Given the description of an element on the screen output the (x, y) to click on. 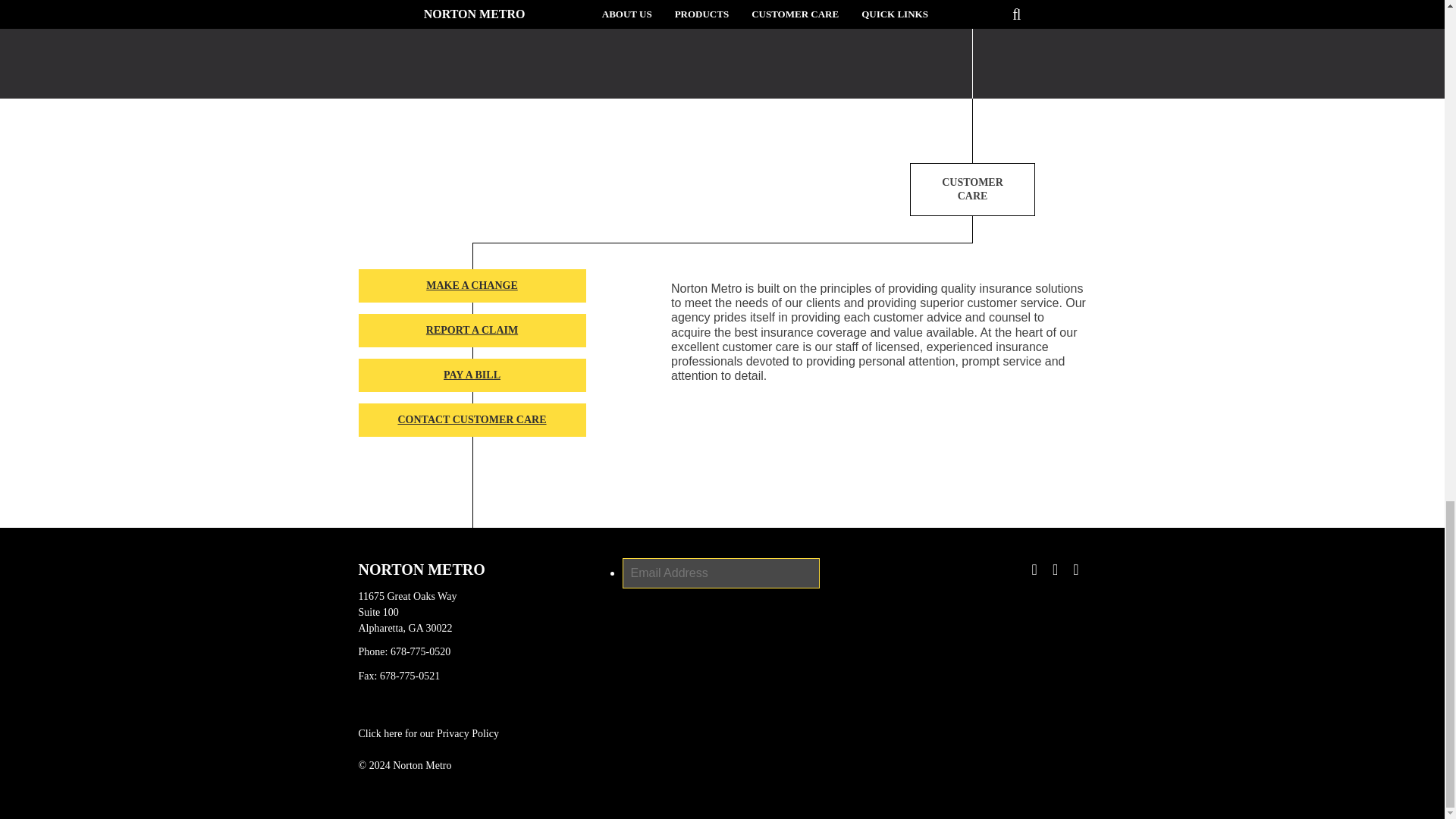
Click here for our Privacy Policy (427, 733)
GET A QUOTE (972, 3)
REPORT A CLAIM (471, 330)
MAKE A CHANGE (471, 285)
PAY A BILL (471, 375)
678-775-0520 (419, 651)
CONTACT CUSTOMER CARE (471, 419)
